Given the description of an element on the screen output the (x, y) to click on. 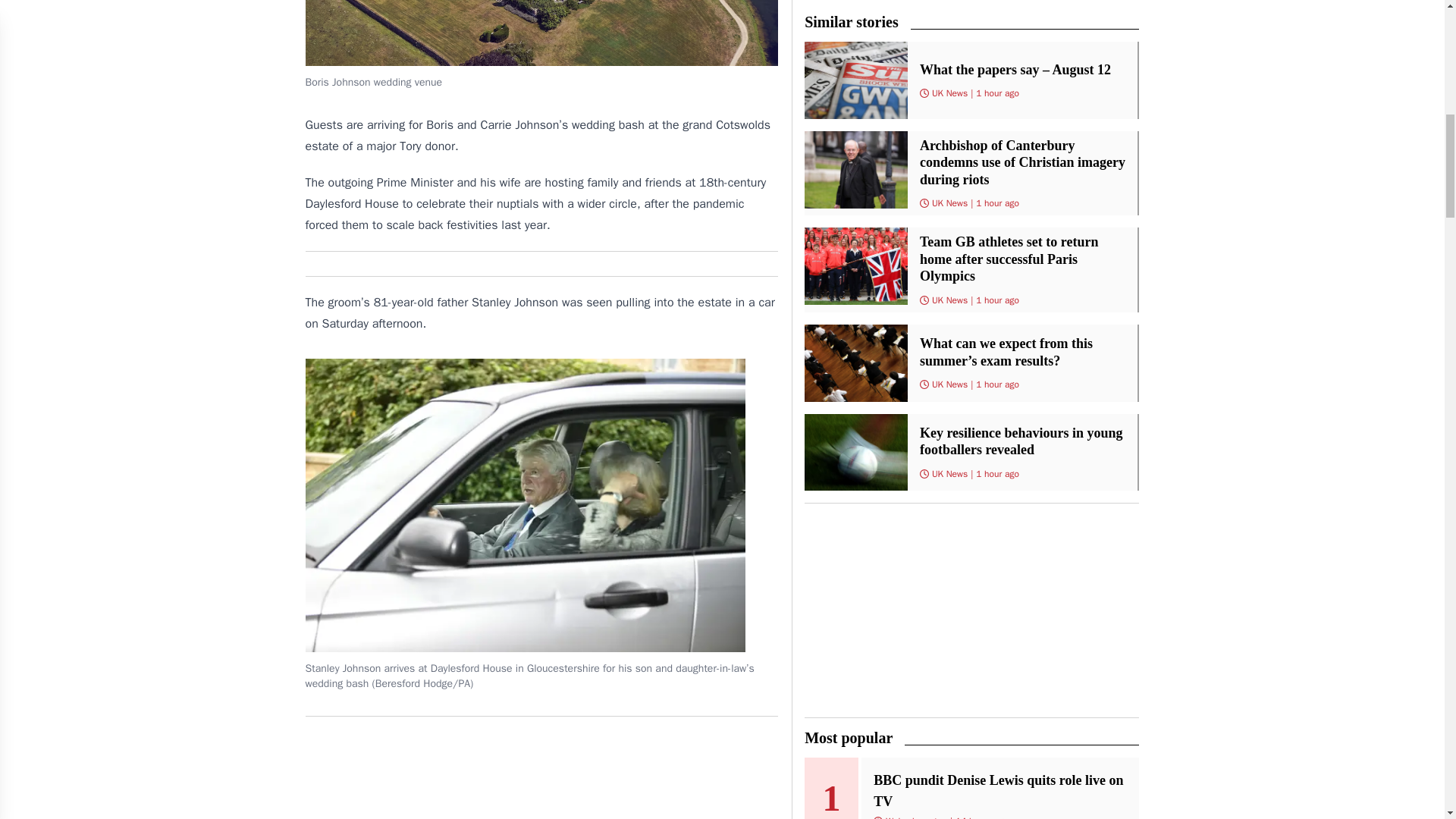
UK News (949, 92)
Wolverhampton (916, 816)
UK News (949, 203)
UK News (949, 473)
UK News (949, 384)
UK News (949, 300)
